Given the description of an element on the screen output the (x, y) to click on. 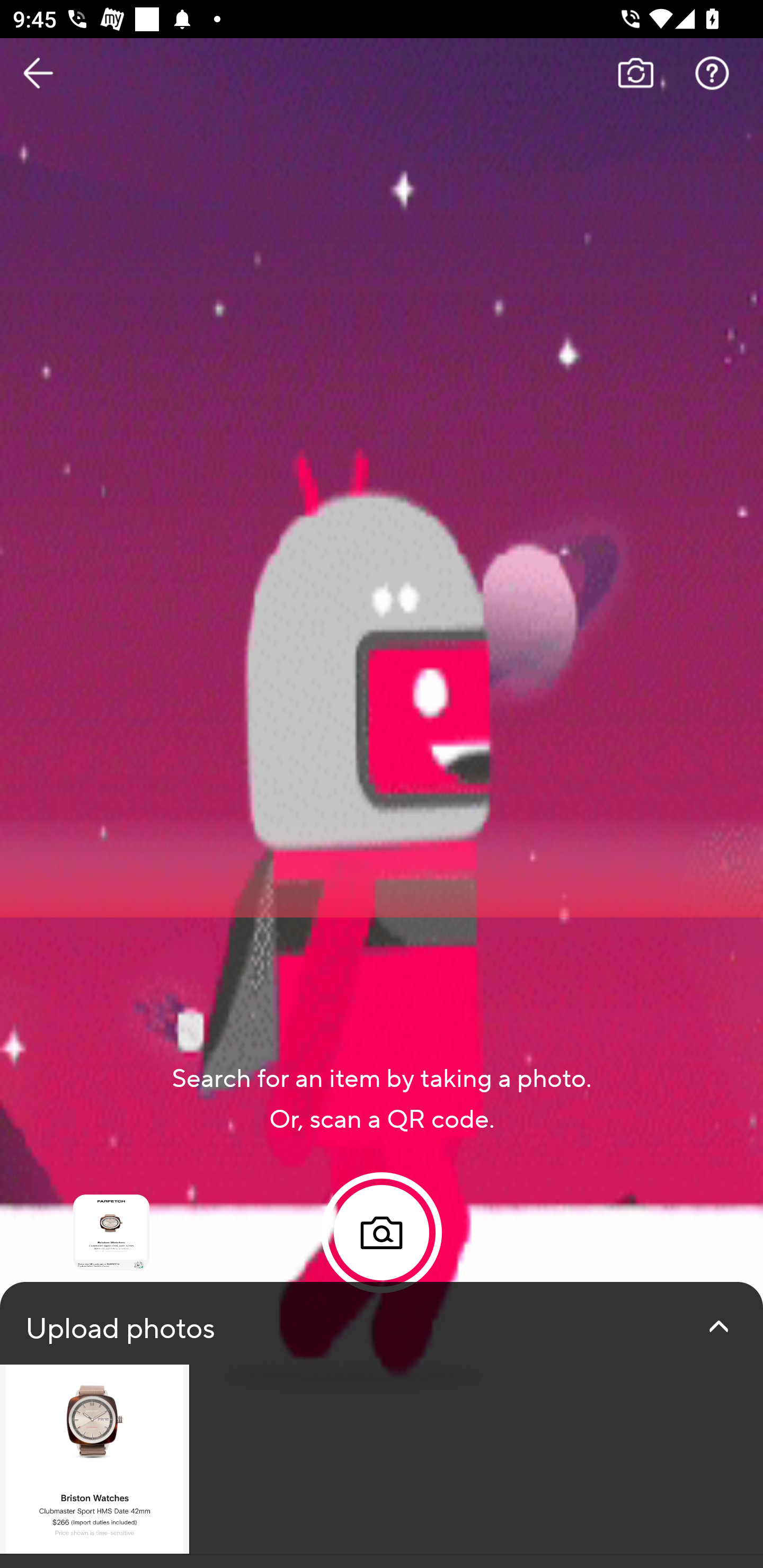
Upload photos  (381, 1425)
 (718, 1326)
